Given the description of an element on the screen output the (x, y) to click on. 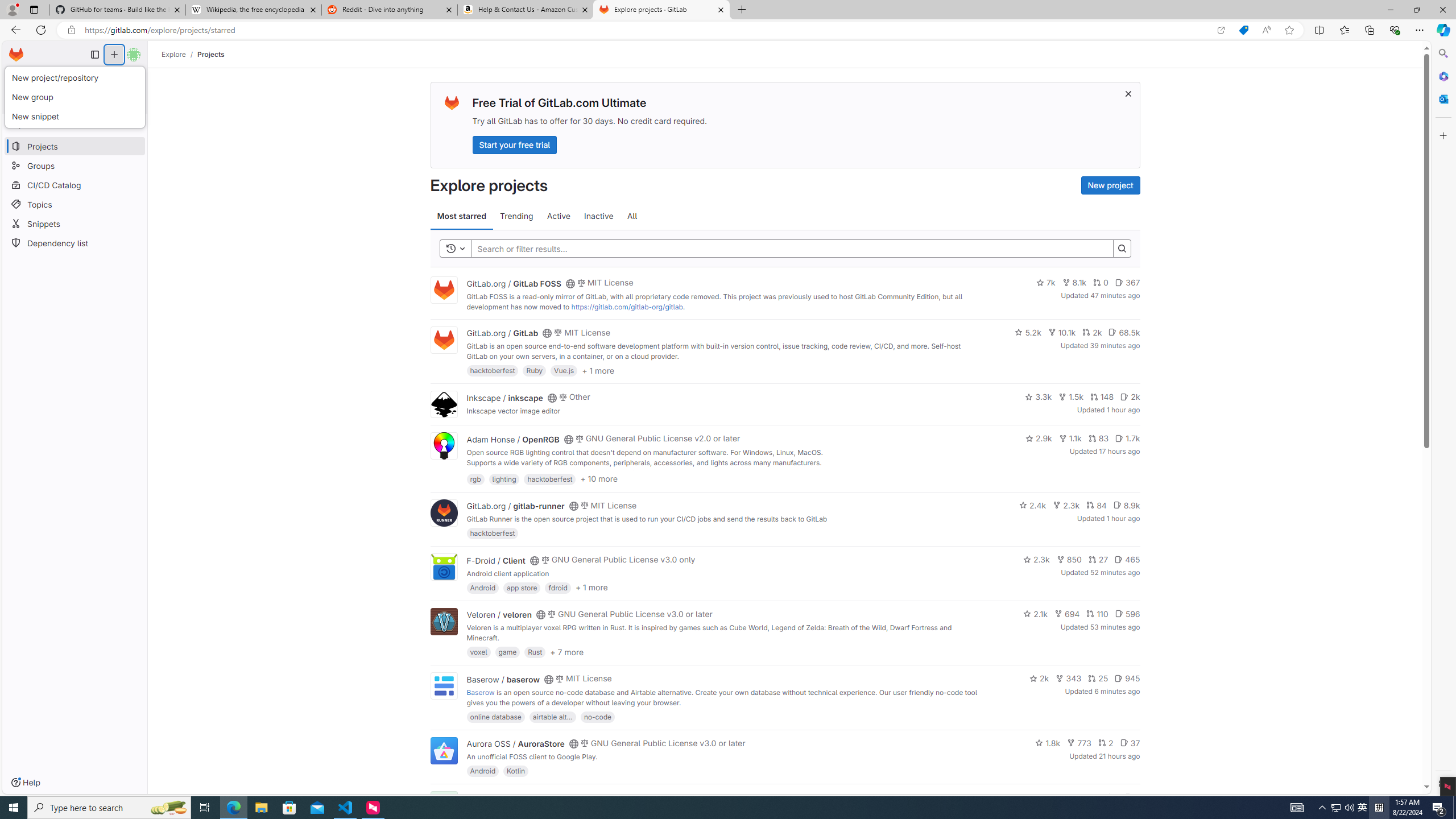
3.3k (1038, 396)
Snippets (74, 223)
596 (1127, 613)
Groups (74, 165)
1.1k (1069, 438)
GitLab.org / GitLab FOSS (513, 283)
Most starred (461, 216)
+ 7 more (566, 651)
